Given the description of an element on the screen output the (x, y) to click on. 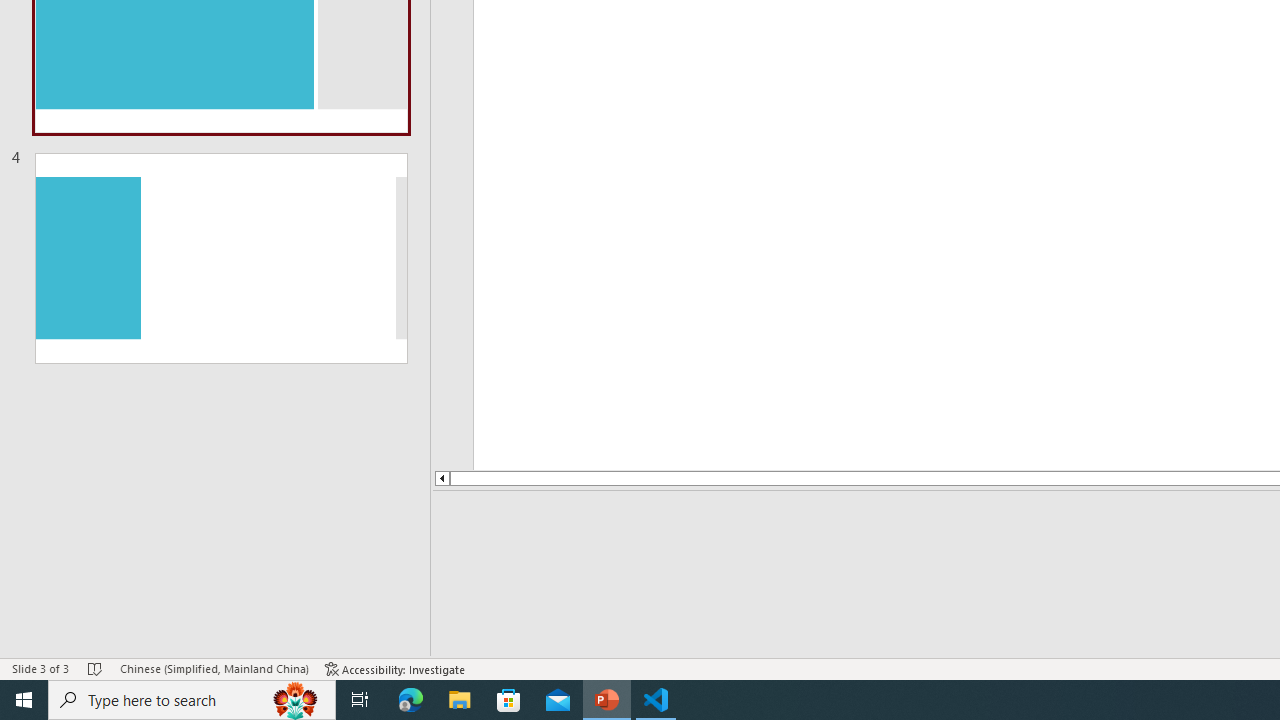
Line up (441, 478)
Accessibility Checker Accessibility: Investigate (395, 668)
